Given the description of an element on the screen output the (x, y) to click on. 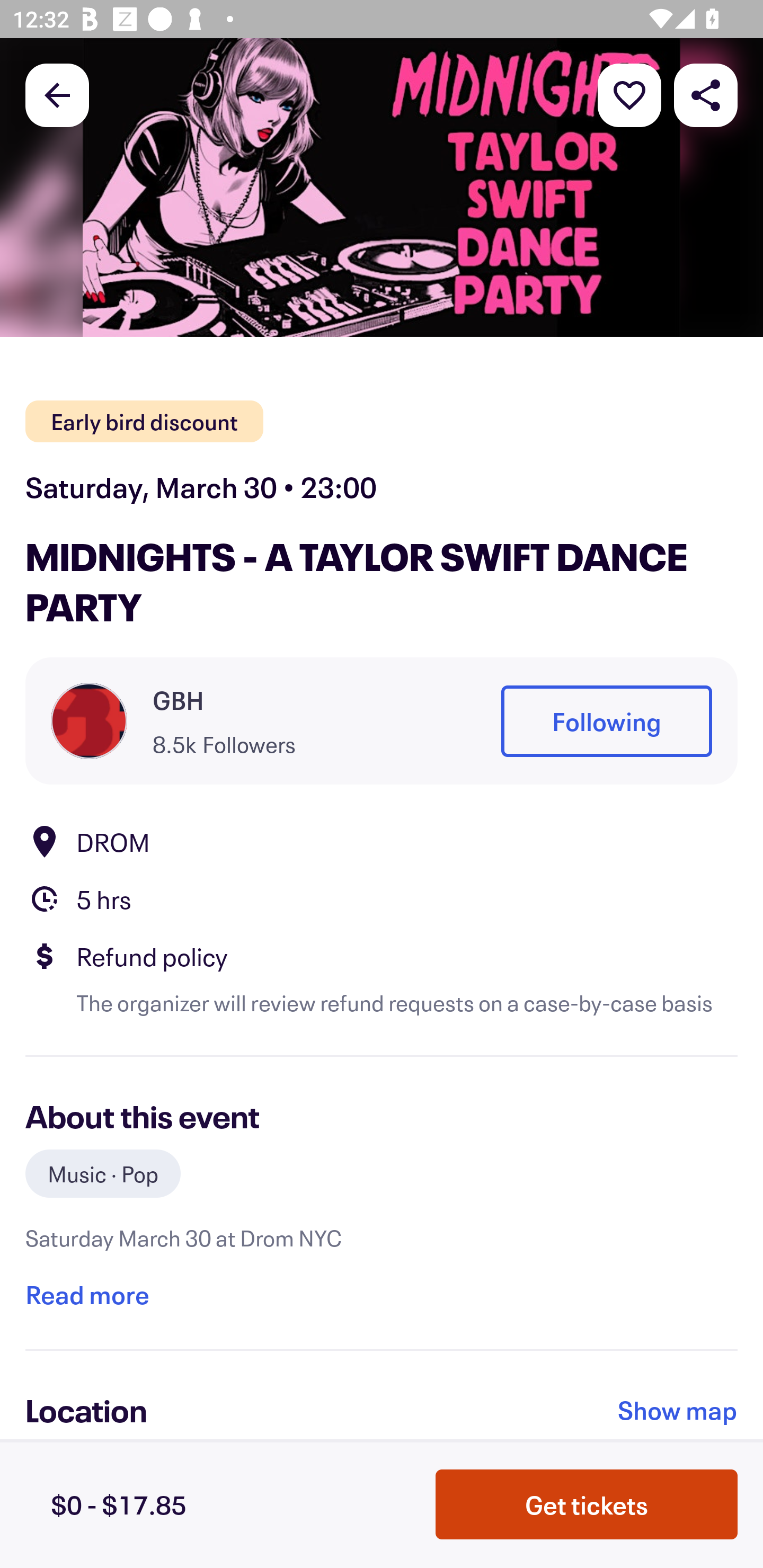
Back (57, 94)
More (629, 94)
Share (705, 94)
Early bird discount (144, 421)
GBH (178, 699)
Organizer profile picture (89, 720)
Following (606, 720)
Location DROM (381, 840)
Read more (87, 1293)
Show map (677, 1410)
Get tickets (586, 1504)
